Given the description of an element on the screen output the (x, y) to click on. 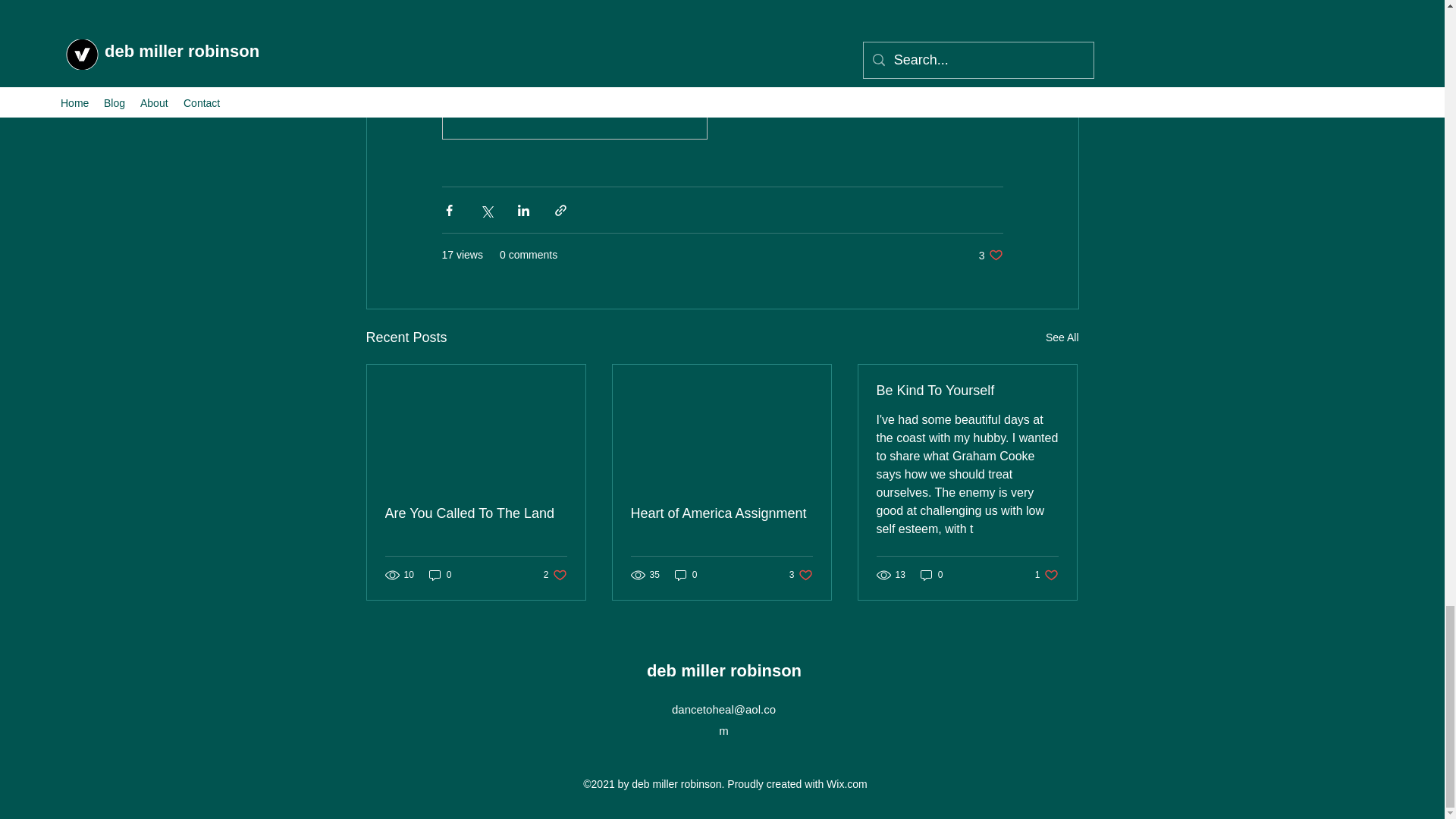
0 (931, 575)
See All (1061, 337)
0 (555, 575)
0 (800, 575)
Be Kind To Yourself (440, 575)
Heart of America Assignment (685, 575)
Are You Called To The Land (990, 255)
